Given the description of an element on the screen output the (x, y) to click on. 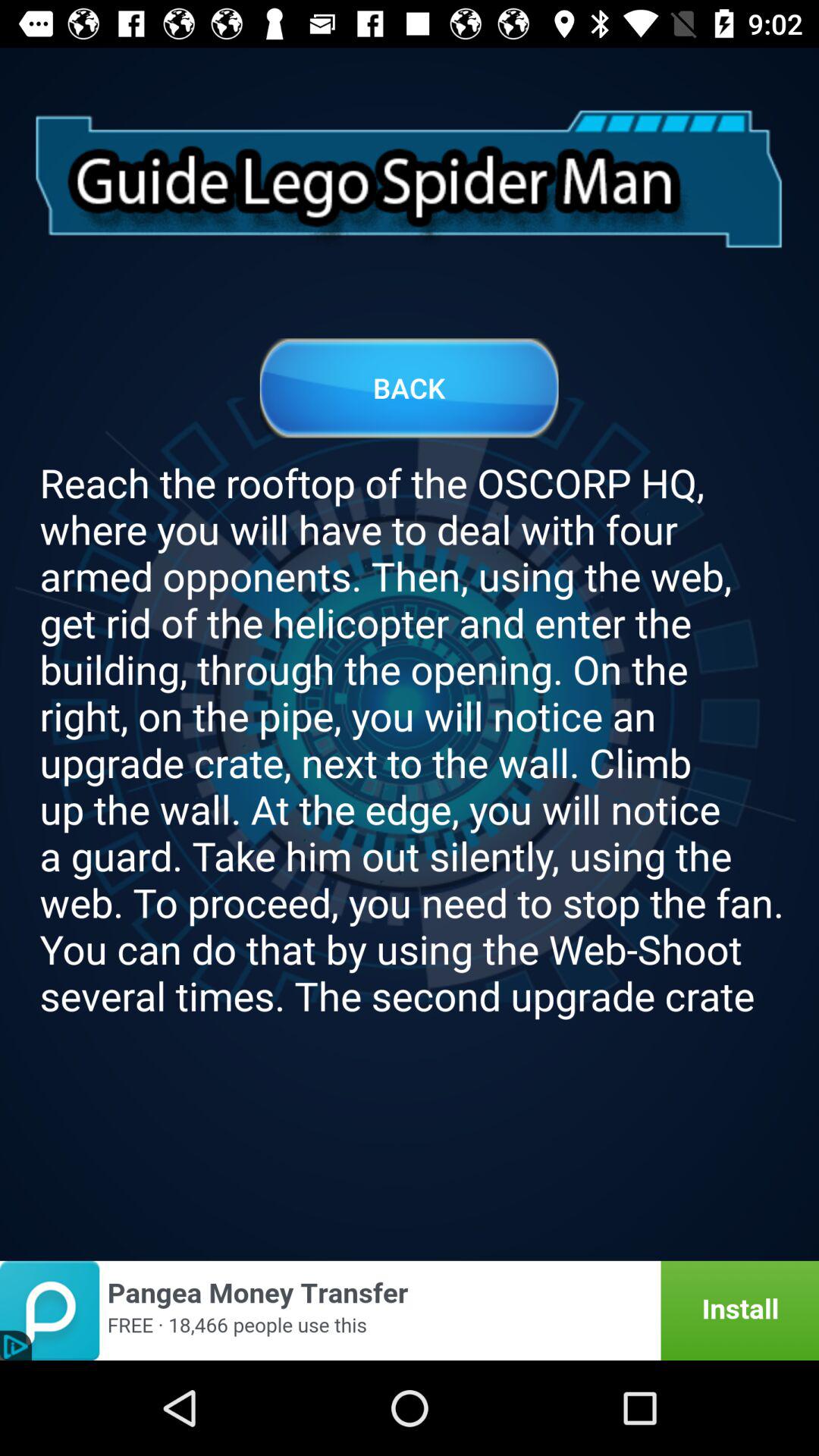
install app (409, 1310)
